Given the description of an element on the screen output the (x, y) to click on. 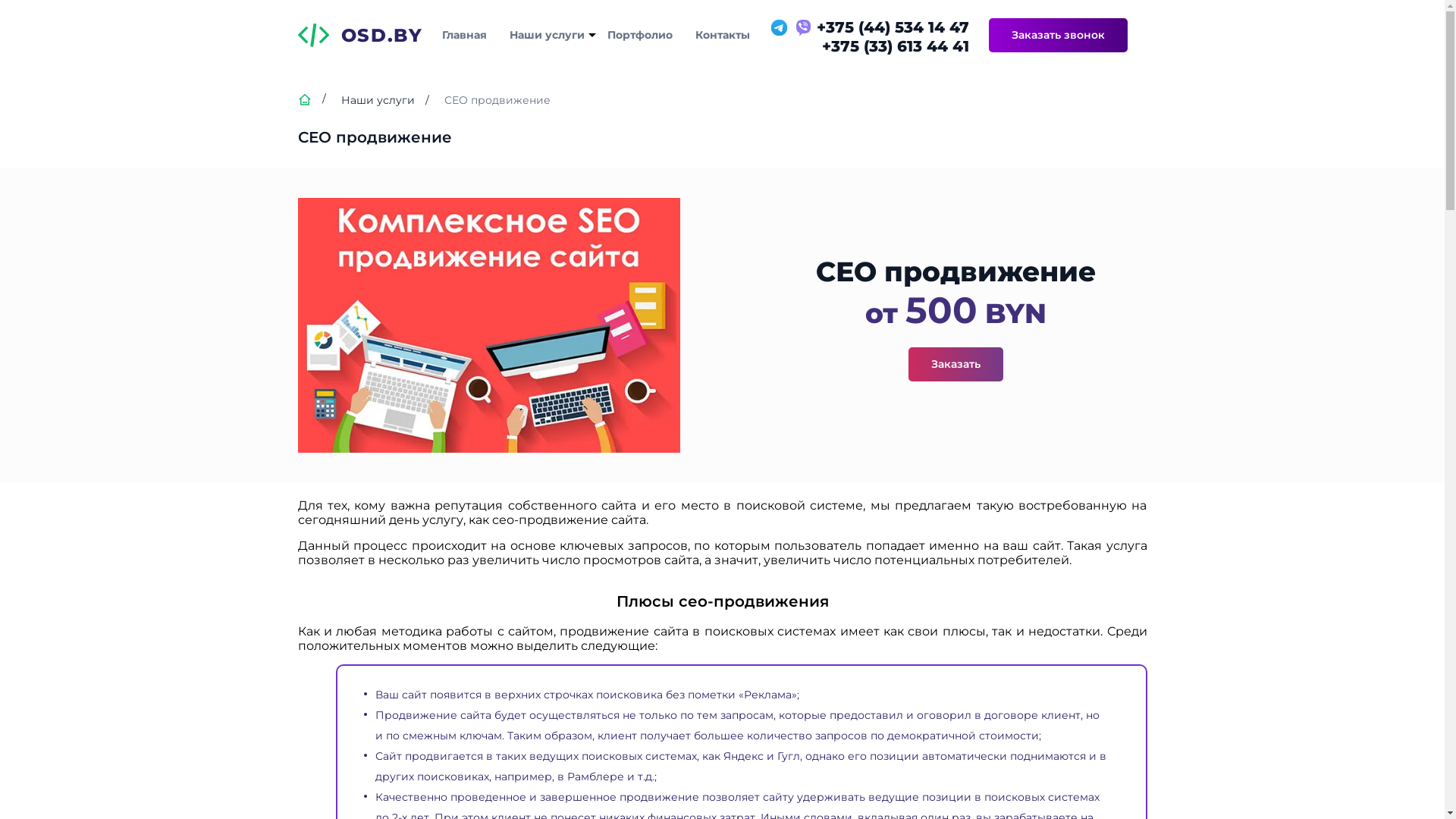
+375 (44) 534 14 47 Element type: text (869, 27)
OSD.BY Element type: text (359, 35)
+375 (33) 613 44 41 Element type: text (869, 46)
